Given the description of an element on the screen output the (x, y) to click on. 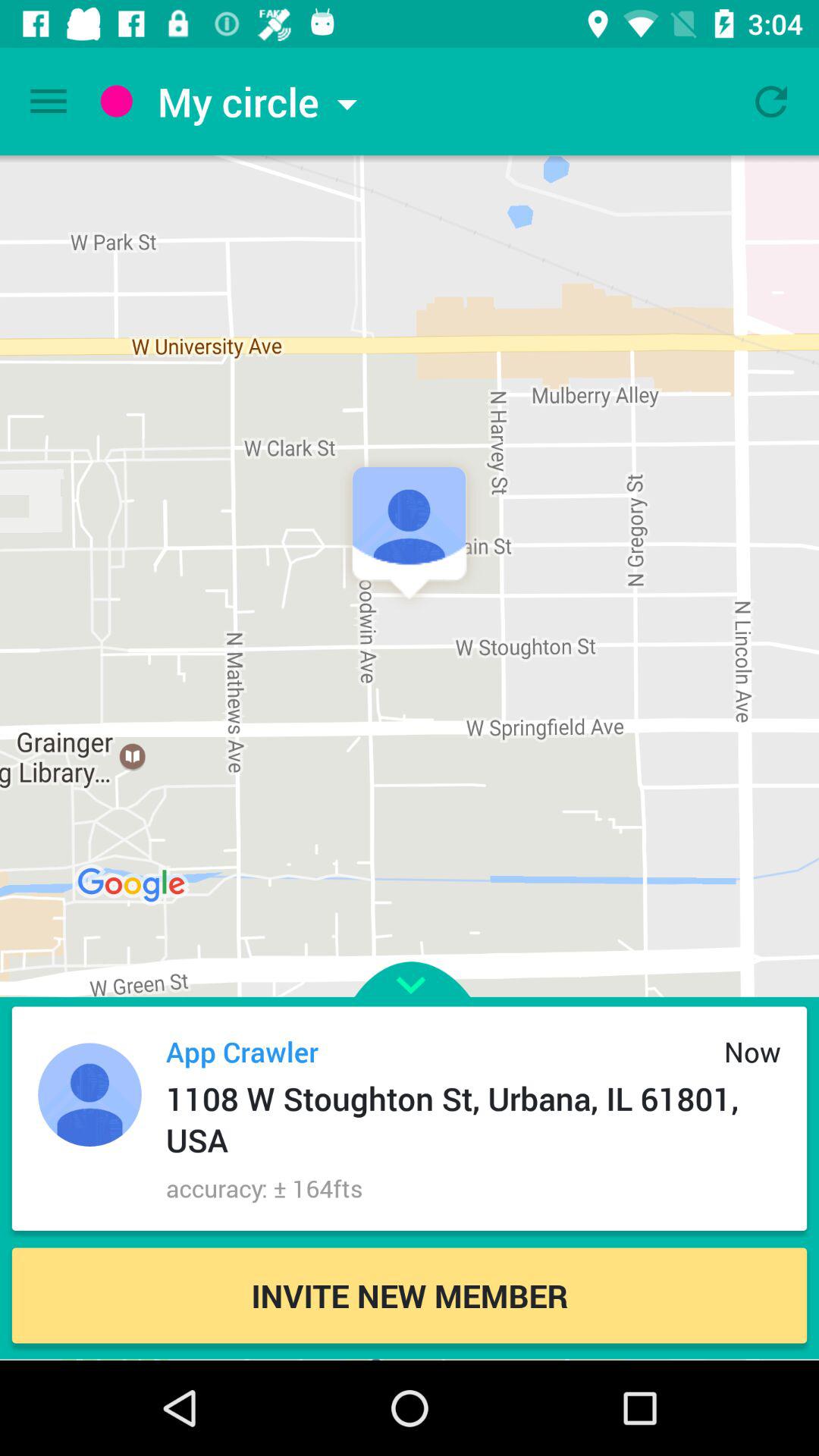
make the screen larger (409, 957)
